Given the description of an element on the screen output the (x, y) to click on. 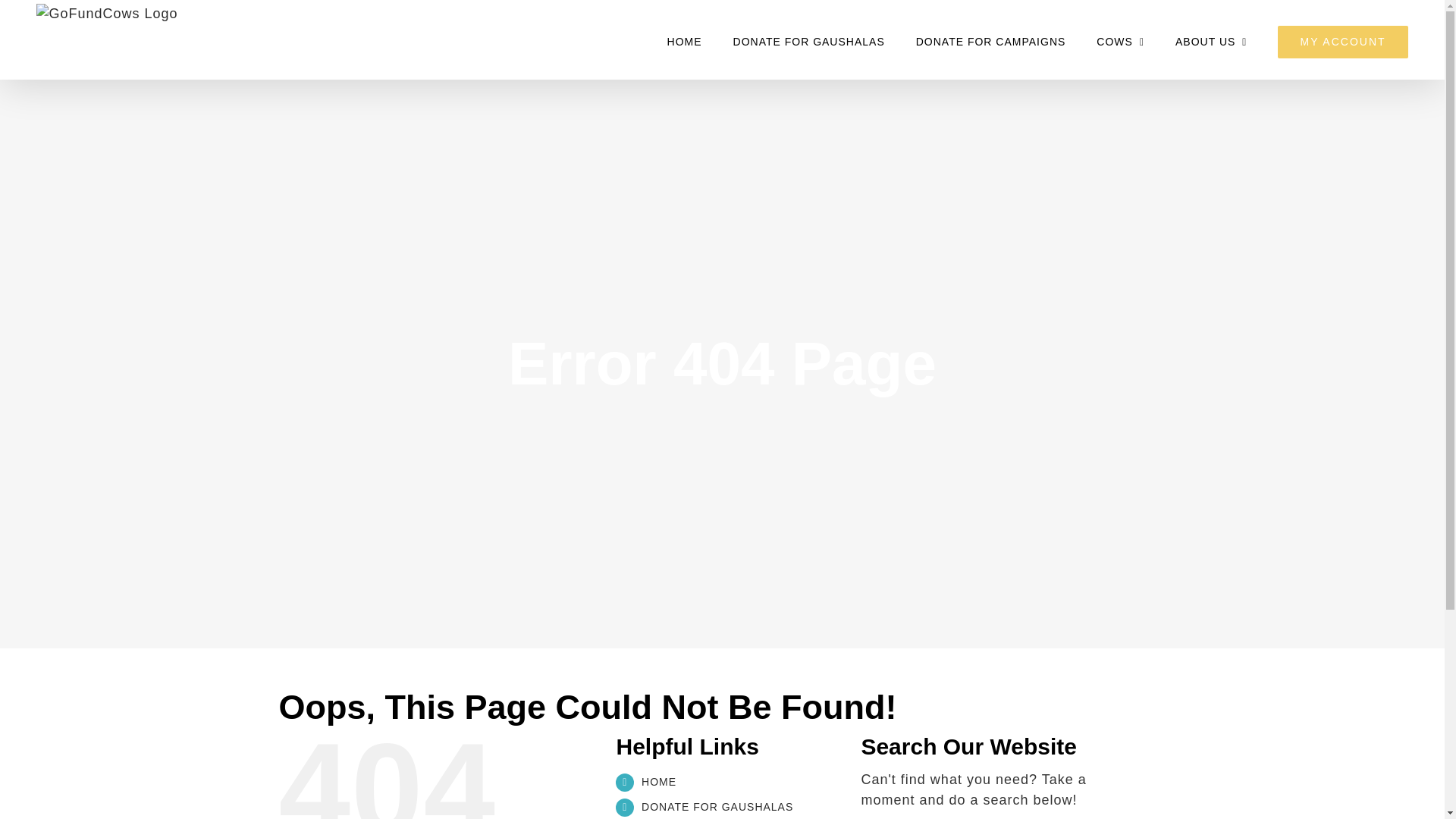
DONATE FOR CAMPAIGNS (990, 41)
DONATE FOR GAUSHALAS (809, 41)
HOME (659, 781)
DONATE FOR GAUSHALAS (717, 806)
ABOUT US (1210, 41)
MY ACCOUNT (1342, 41)
